Given the description of an element on the screen output the (x, y) to click on. 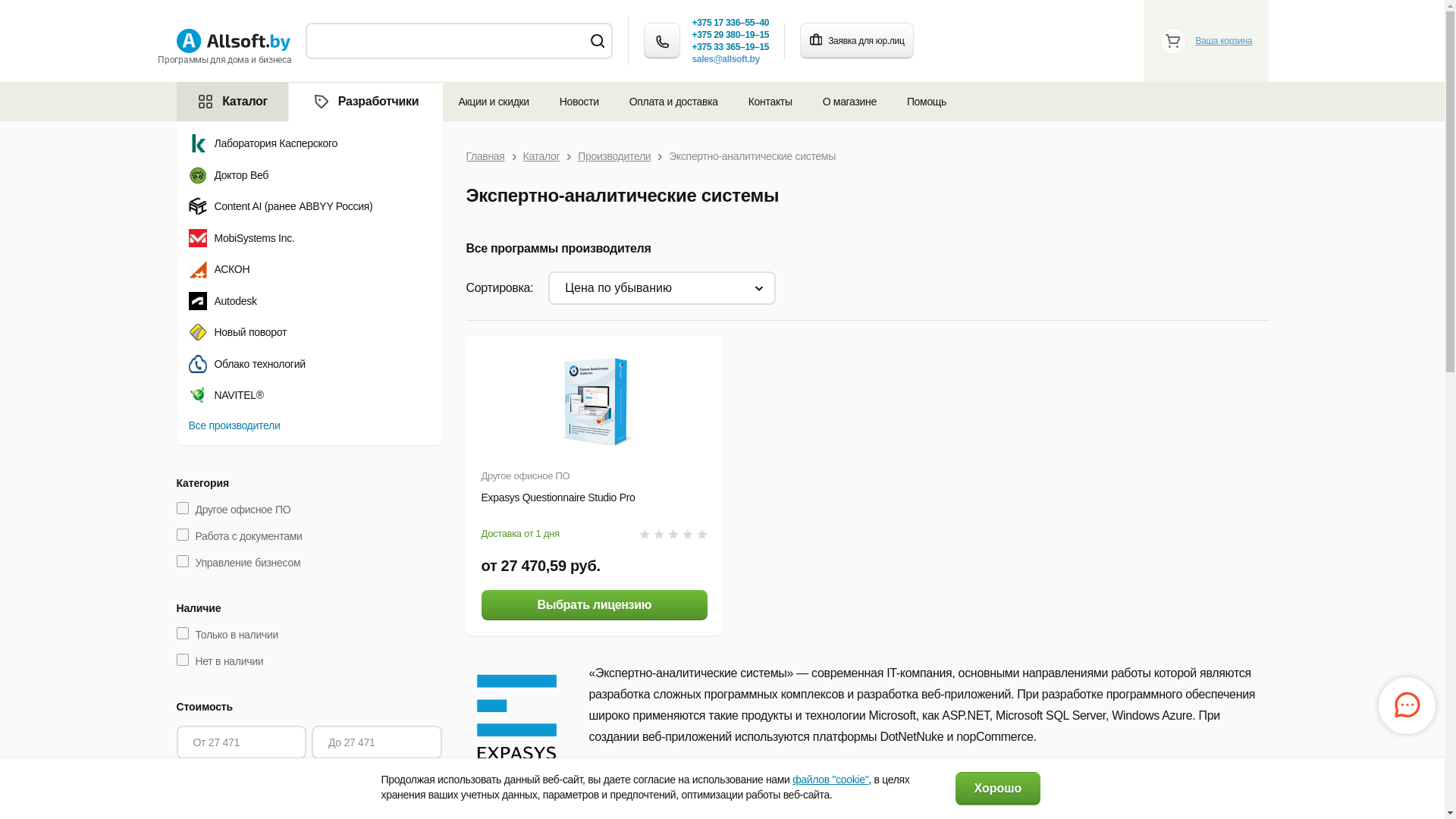
MobiSystems Inc.  Element type: text (308, 237)
Expasys Questionnaire Studio Pro Element type: hover (593, 402)
allsoft.by Element type: hover (232, 40)
sales@allsoft.by Element type: text (725, 58)
Autodesk  Element type: text (308, 300)
Expasys Questionnaire Studio Pro Element type: text (557, 497)
0 Element type: hover (673, 534)
